Given the description of an element on the screen output the (x, y) to click on. 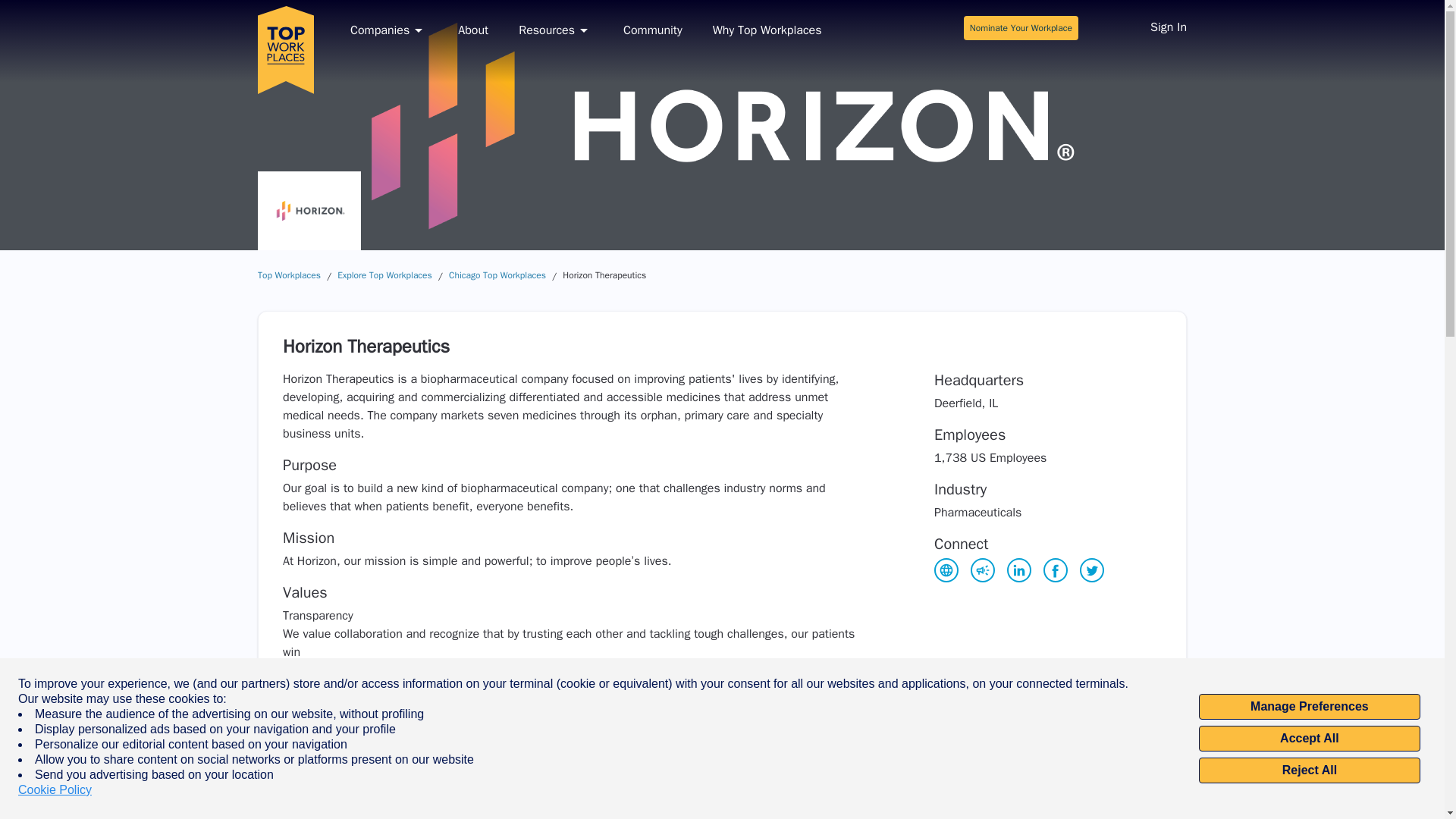
Sign In (1168, 28)
Accept All (1309, 738)
Read more (311, 669)
Chicago Top Workplaces (497, 275)
About (472, 30)
Why Top Workplaces (767, 30)
Cookie Policy (54, 789)
Community (652, 30)
Resources (555, 30)
Reject All (1309, 769)
Explore Top Workplaces (384, 275)
Companies (389, 30)
Manage Preferences (1309, 706)
Nominate Your Workplace (1020, 27)
Top Workplaces (288, 275)
